Given the description of an element on the screen output the (x, y) to click on. 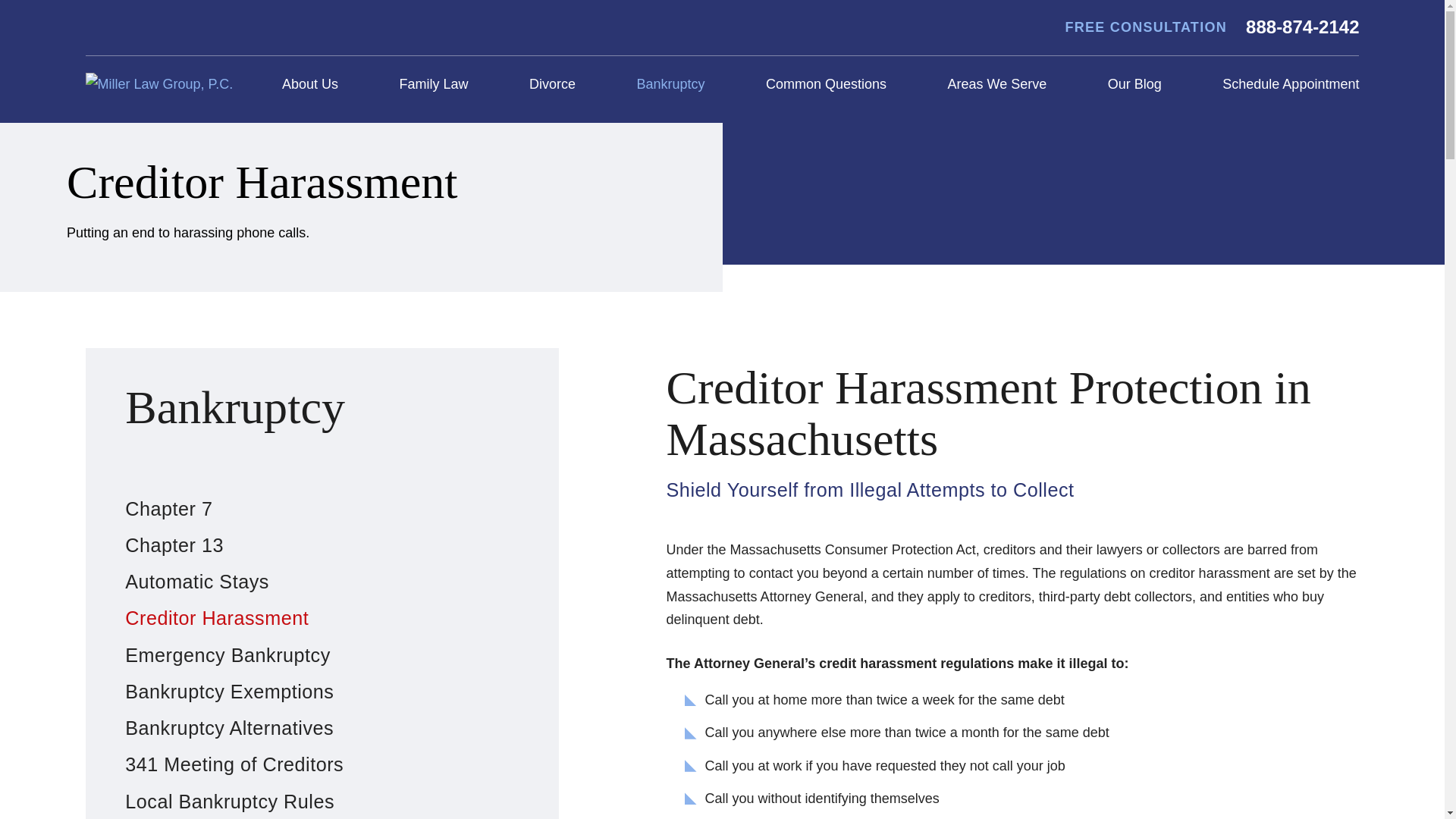
About Us (309, 84)
888-874-2142 (1302, 27)
Family Law (433, 84)
Miller Law Group, P.C. (158, 84)
Divorce (552, 84)
